Given the description of an element on the screen output the (x, y) to click on. 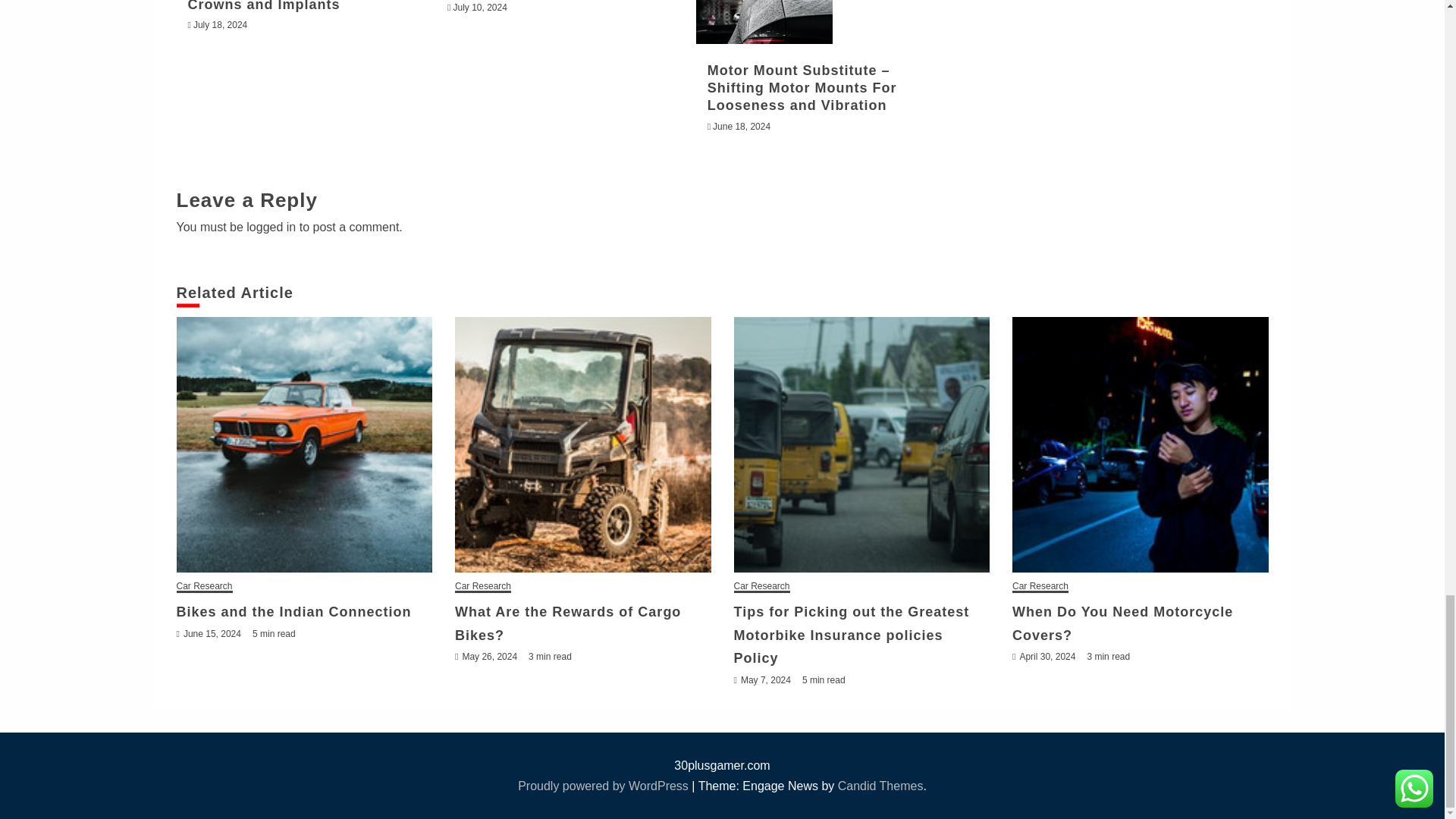
July 10, 2024 (479, 7)
June 18, 2024 (741, 126)
What Are the Rewards of Cargo Bikes? (582, 444)
July 18, 2024 (220, 24)
Bikes and the Indian Connection (304, 444)
